Given the description of an element on the screen output the (x, y) to click on. 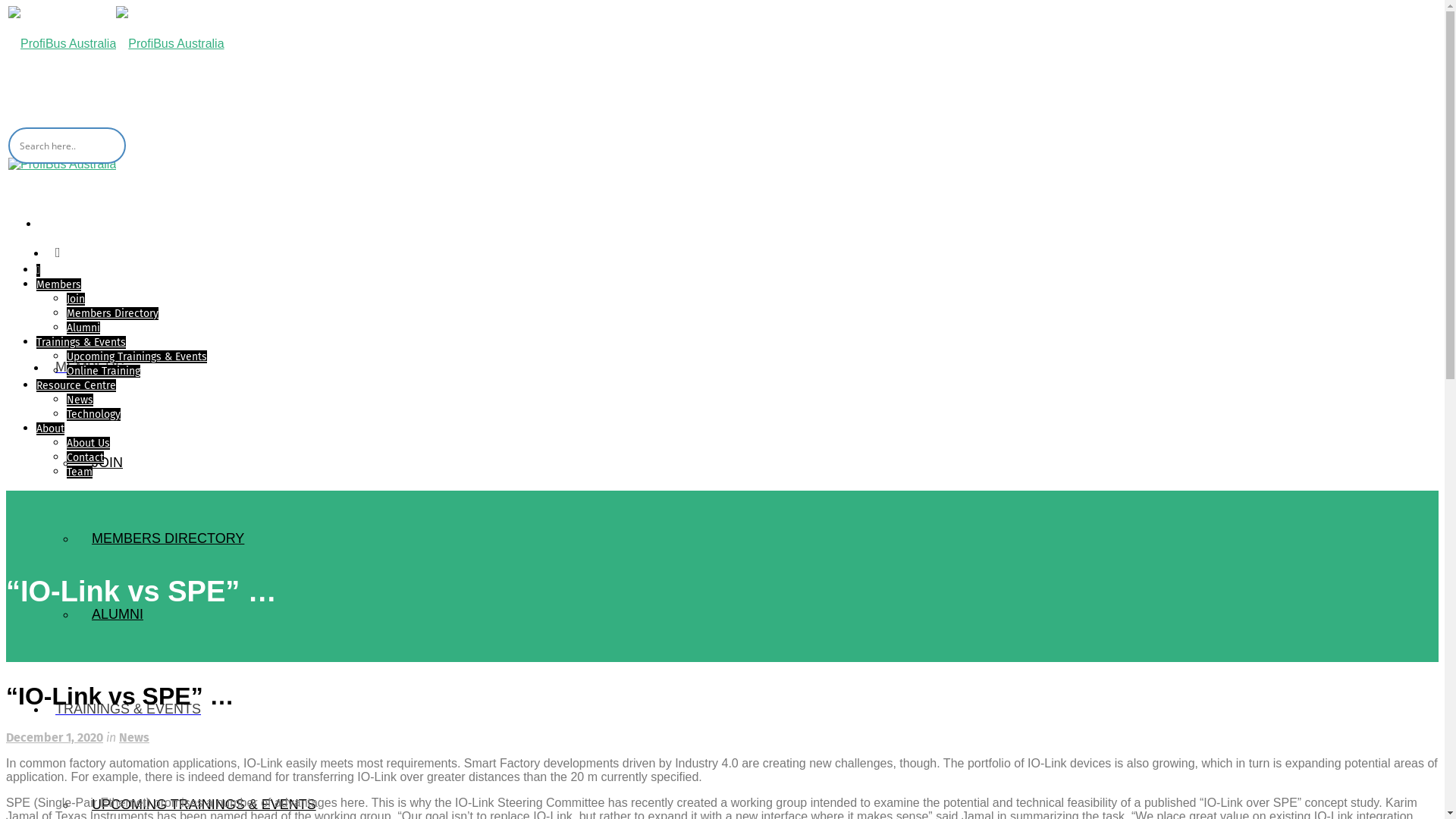
Join Element type: text (75, 298)
About Element type: text (50, 428)
Trainings & Events Element type: text (80, 341)
Resource Centre Element type: text (76, 385)
Upcoming Trainings & Events Element type: text (136, 356)
UPCOMING TRAININGS & EVENTS Element type: text (203, 804)
Members Directory Element type: text (112, 313)
News Element type: text (79, 399)
Contact Element type: text (84, 457)
News Element type: text (134, 737)
JOIN Element type: text (107, 462)
Technology Element type: text (93, 413)
December 1, 2020 Element type: text (54, 737)
Alumni Element type: text (83, 327)
Members Element type: text (58, 284)
MEMBERS Element type: text (89, 366)
ProfiBus Australia Element type: hover (116, 43)
Team Element type: text (79, 471)
Online Training Element type: text (103, 370)
MEMBERS DIRECTORY Element type: text (167, 538)
About Us Element type: text (87, 442)
TRAININGS & EVENTS Element type: text (128, 708)
ProfiBus Australia Element type: hover (62, 163)
ALUMNI Element type: text (117, 613)
